Given the description of an element on the screen output the (x, y) to click on. 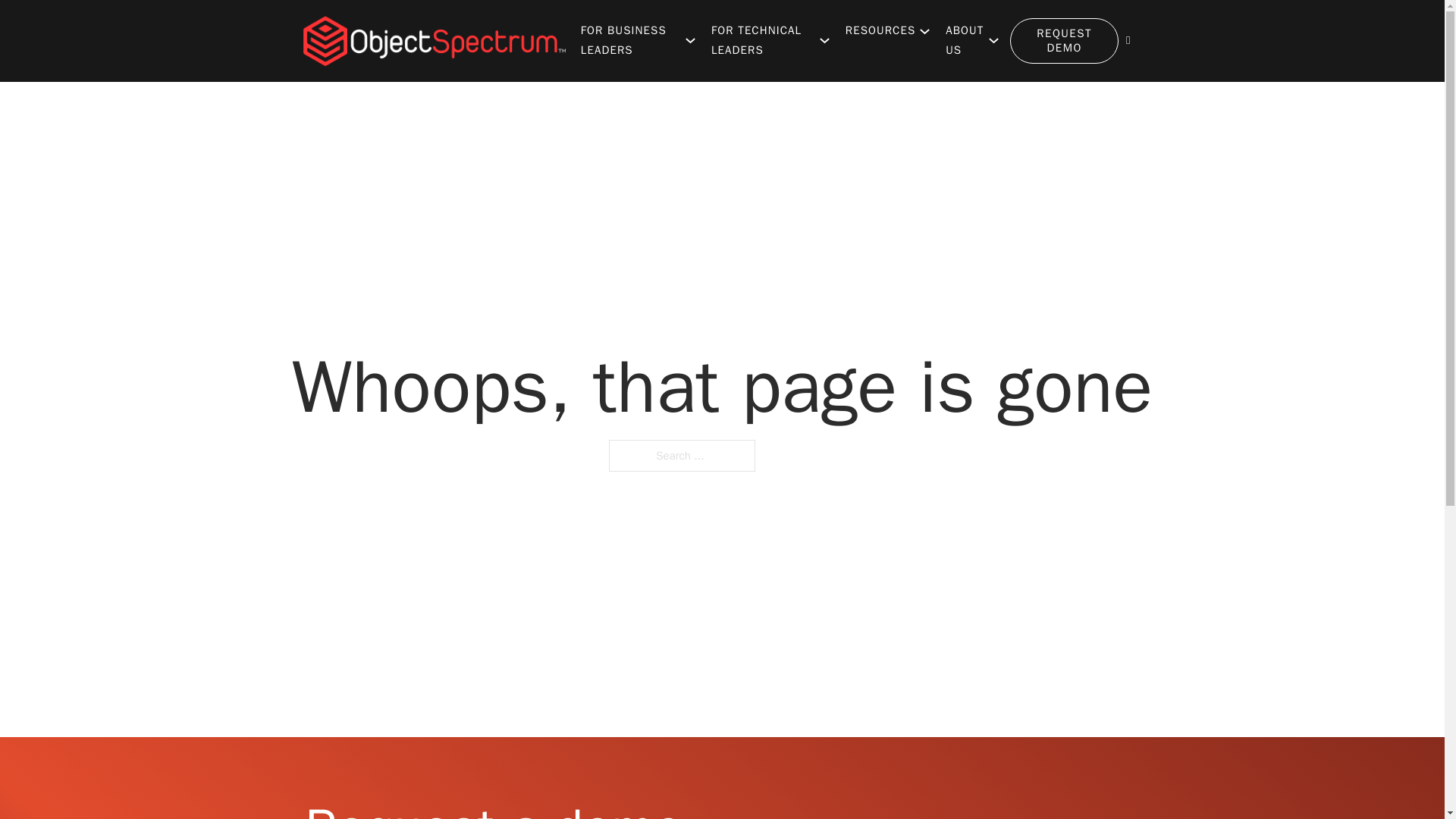
FOR BUSINESS LEADERS (630, 40)
ABOUT US (964, 40)
RESOURCES (880, 30)
FOR TECHNICAL LEADERS (763, 40)
